Given the description of an element on the screen output the (x, y) to click on. 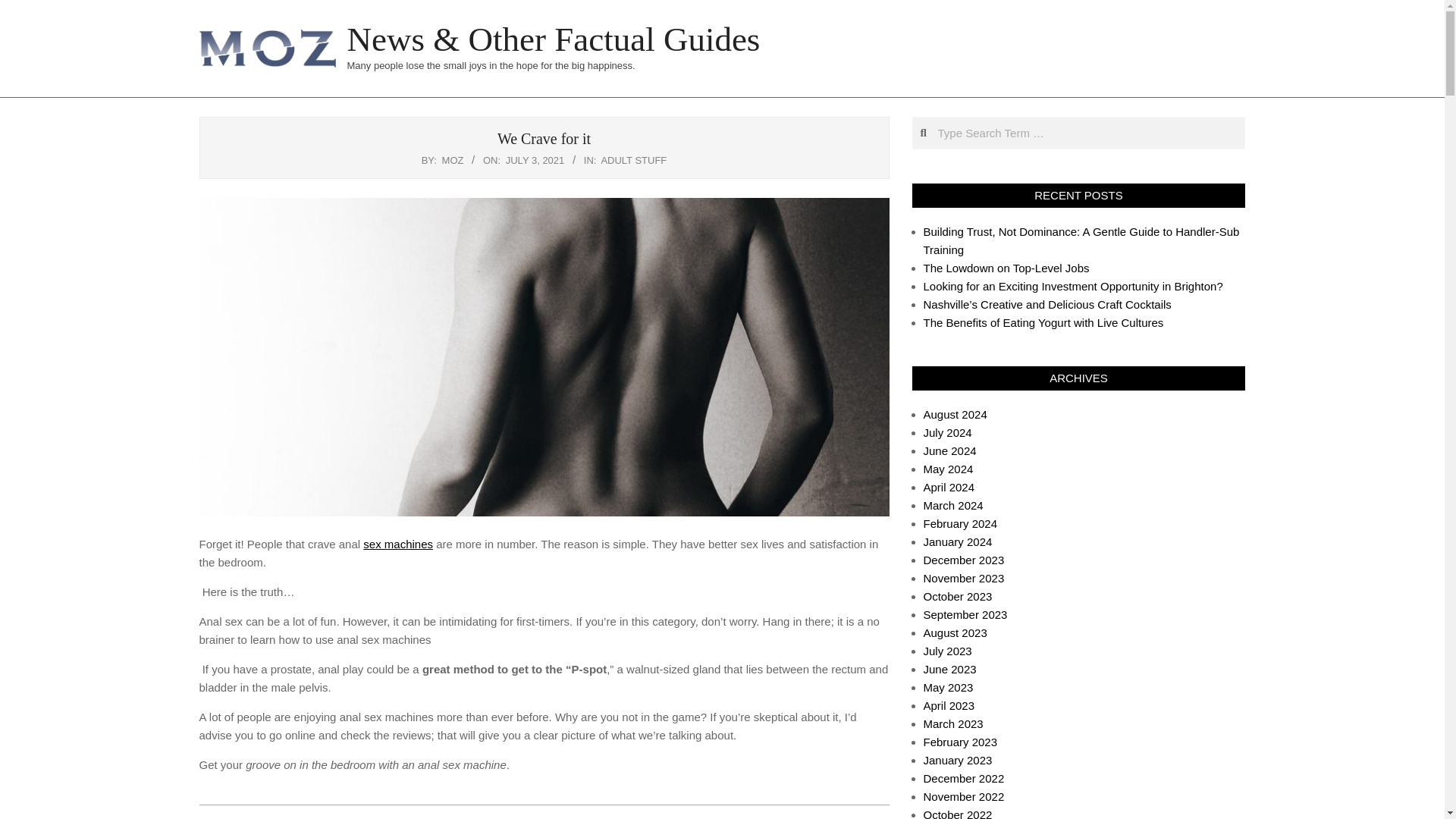
Posts by Moz (453, 160)
Saturday, July 3, 2021, 2:20 am (534, 160)
September 2023 (965, 614)
December 2023 (963, 559)
October 2022 (957, 813)
August 2024 (955, 413)
June 2024 (949, 450)
January 2023 (957, 759)
November 2022 (963, 796)
February 2023 (960, 741)
November 2023 (963, 577)
sex machines (397, 543)
April 2024 (949, 486)
July 2023 (947, 650)
